Given the description of an element on the screen output the (x, y) to click on. 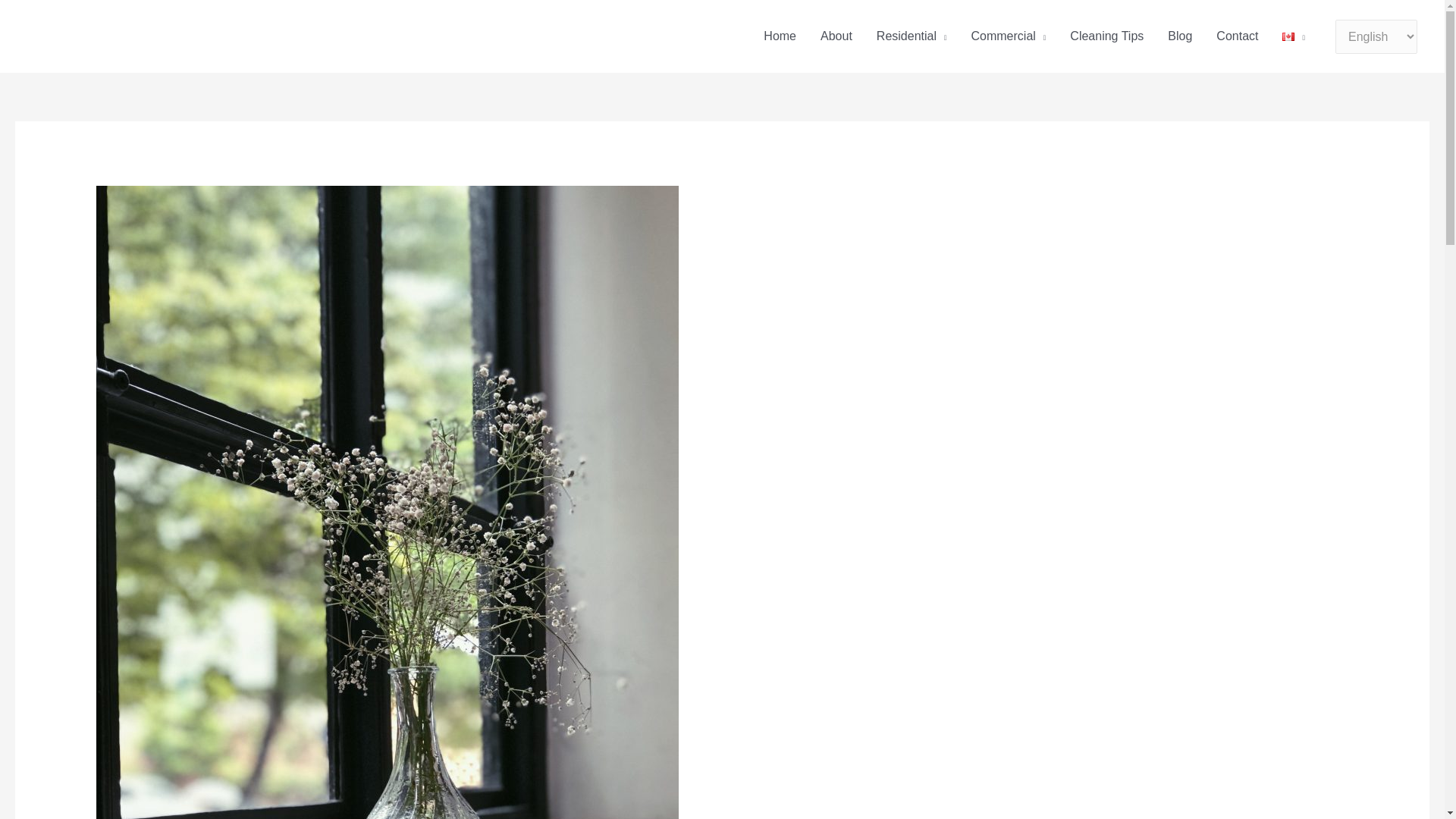
Commercial (1008, 36)
Contact (1236, 36)
Home (779, 36)
Residential (911, 36)
Cleaning Tips (1107, 36)
About (836, 36)
Blog (1180, 36)
